Given the description of an element on the screen output the (x, y) to click on. 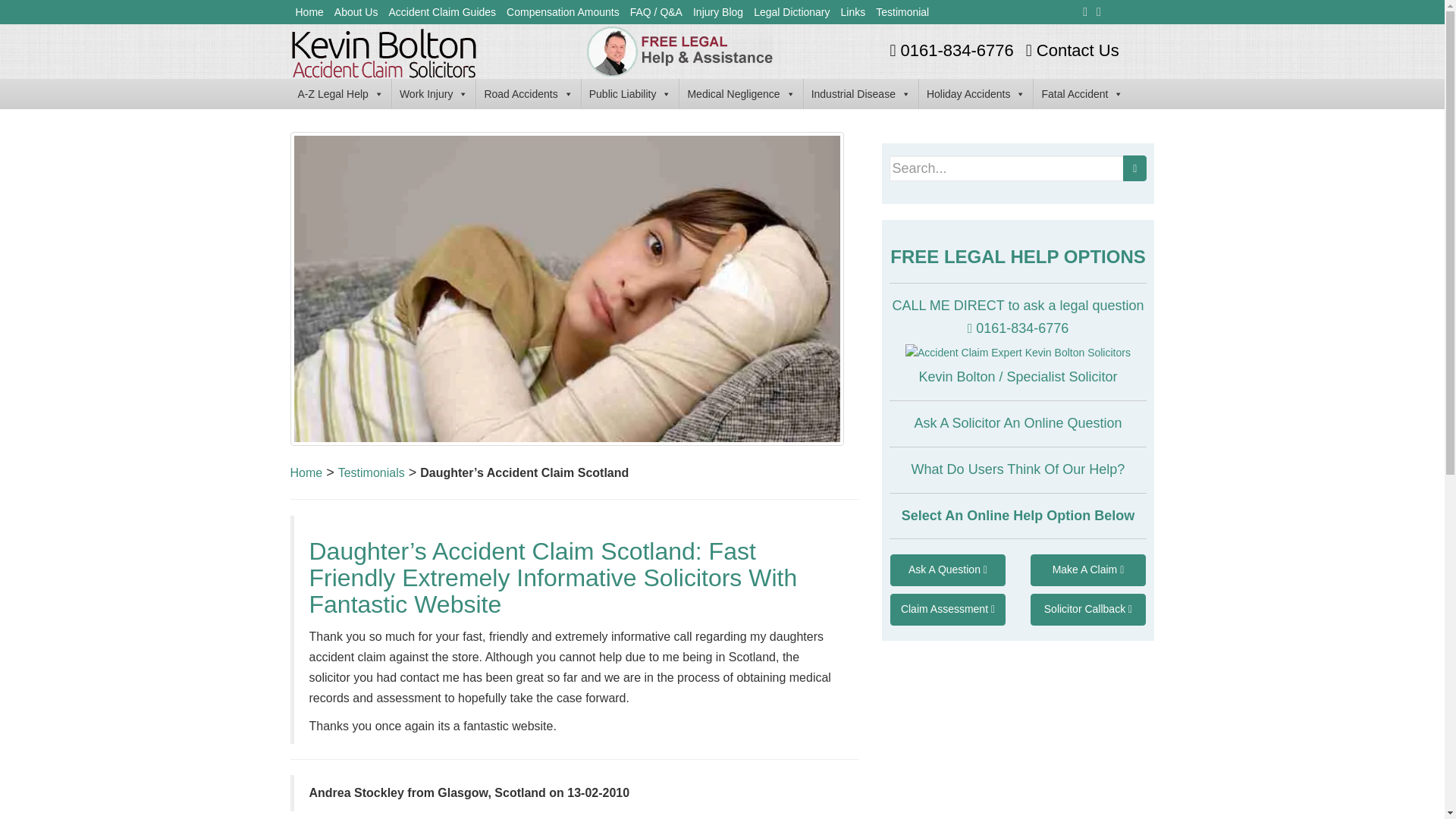
Testimonial (902, 12)
About Us (356, 12)
Compensation Amounts (562, 12)
Links (852, 12)
Contact Us (1070, 49)
Accident Claim Guides (441, 12)
A-Z Legal Help (339, 93)
0161-834-6776 (949, 49)
Compensation Amounts (562, 12)
Legal Dictionary (791, 12)
About Us (356, 12)
Home (305, 472)
Legal Dictionary (791, 12)
Work Injury (433, 93)
